Given the description of an element on the screen output the (x, y) to click on. 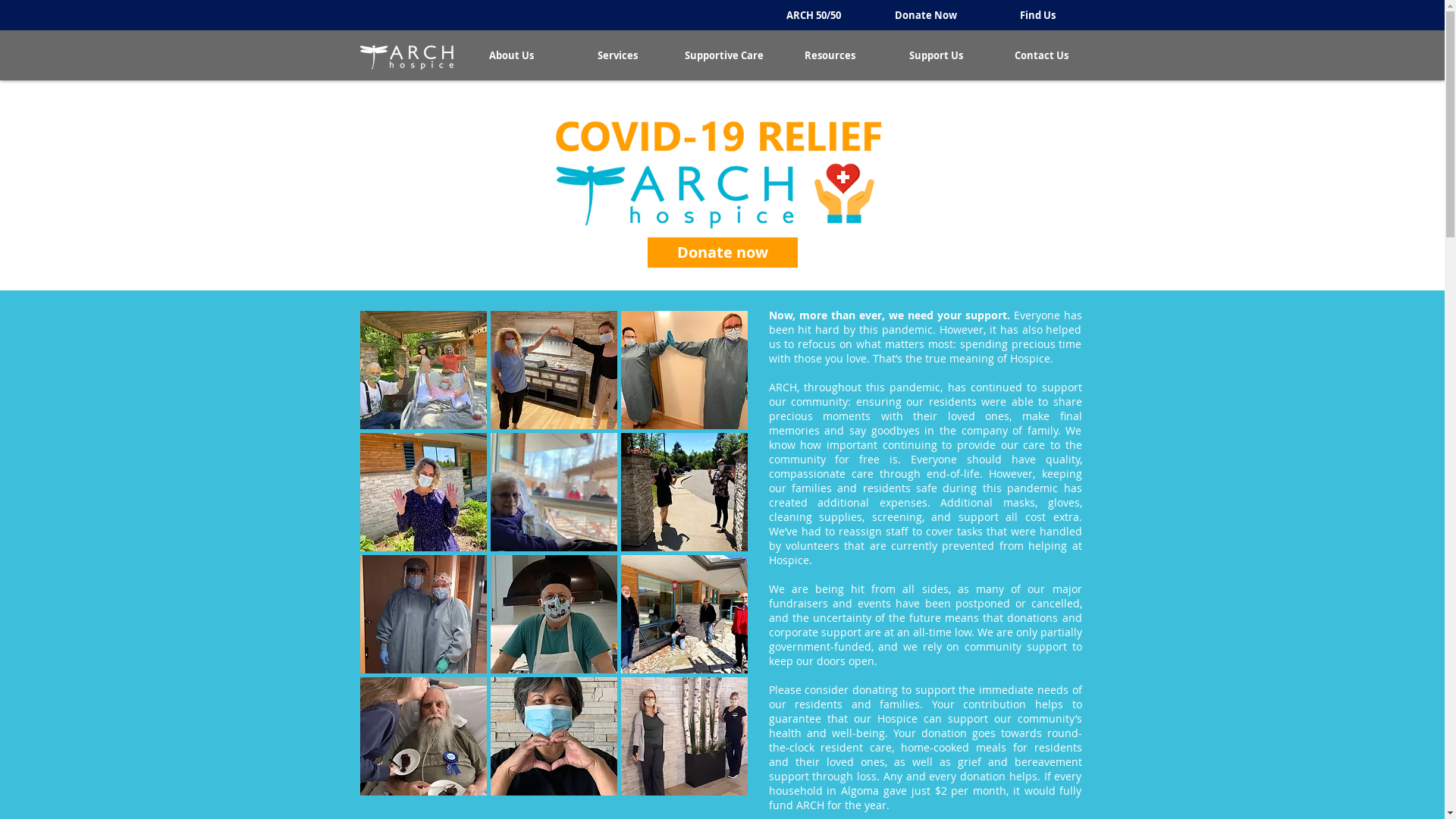
Find Us Element type: text (1037, 15)
Home Element type: hover (405, 57)
Contact Us Element type: text (1041, 55)
Resources Element type: text (829, 55)
Services Element type: text (617, 55)
Support Us Element type: text (935, 55)
Supportive Care Element type: text (723, 55)
About Us Element type: text (511, 55)
Donate Now Element type: text (925, 15)
ARCH 50/50 Element type: text (812, 15)
COVID-19-Orange.gif Element type: hover (720, 176)
Donate now Element type: text (722, 252)
